Given the description of an element on the screen output the (x, y) to click on. 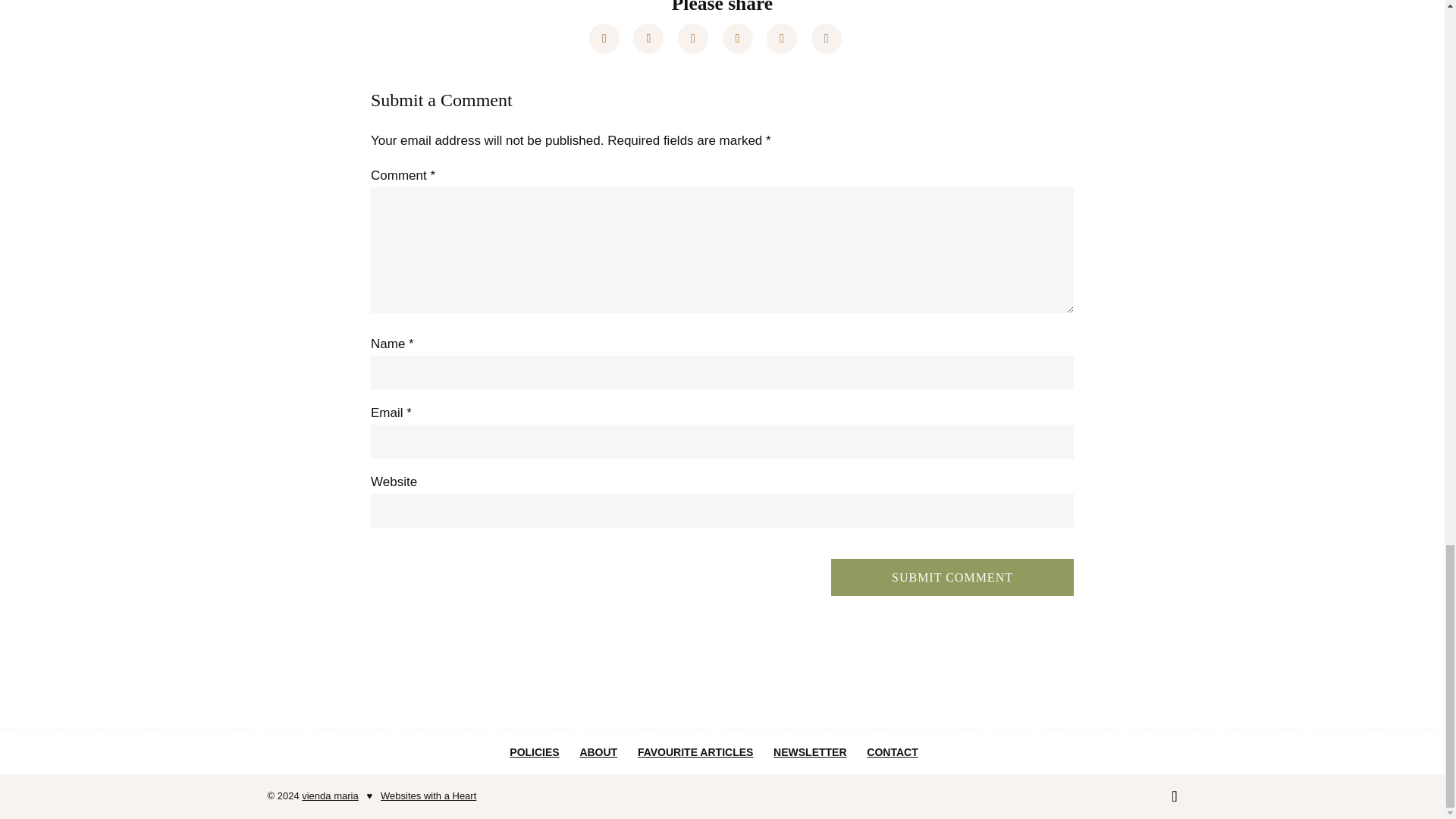
POLICIES (534, 752)
CONTACT (891, 752)
FAVOURITE ARTICLES (694, 752)
Websites with a Heart (428, 795)
Submit Comment (952, 577)
Submit Comment (952, 577)
ABOUT (598, 752)
NEWSLETTER (809, 752)
vienda maria (329, 795)
